Given the description of an element on the screen output the (x, y) to click on. 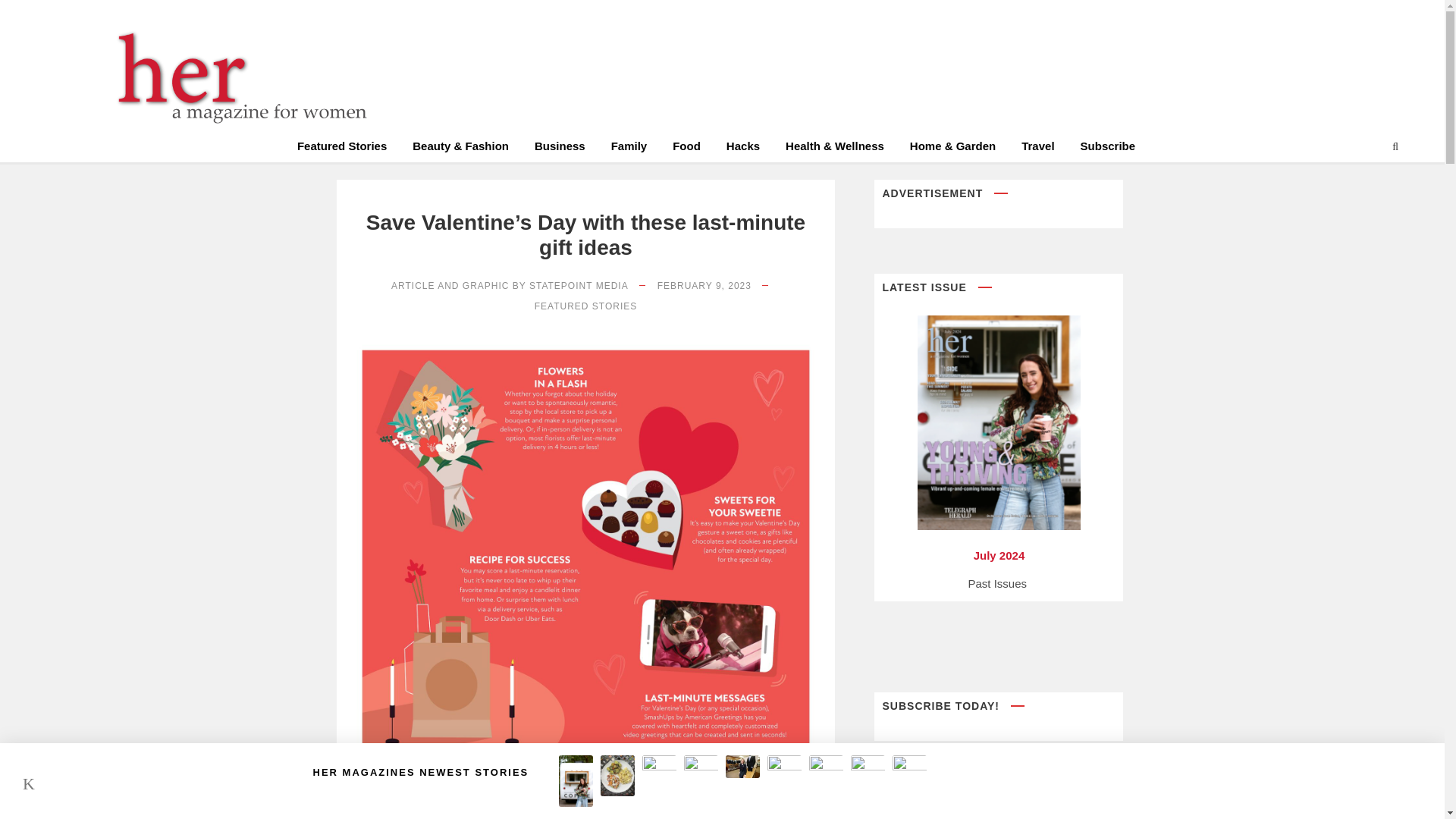
FEATURED STORIES (585, 306)
FEBRUARY 9, 2023 (704, 285)
Hacks (743, 149)
Posts by article and graphic by statepoint media (509, 285)
Business (559, 149)
Travel (1038, 149)
Food (686, 149)
ARTICLE AND GRAPHIC BY STATEPOINT MEDIA (509, 285)
her-logo (235, 77)
Family (629, 149)
Featured Stories (342, 149)
Subscribe (1107, 149)
